Given the description of an element on the screen output the (x, y) to click on. 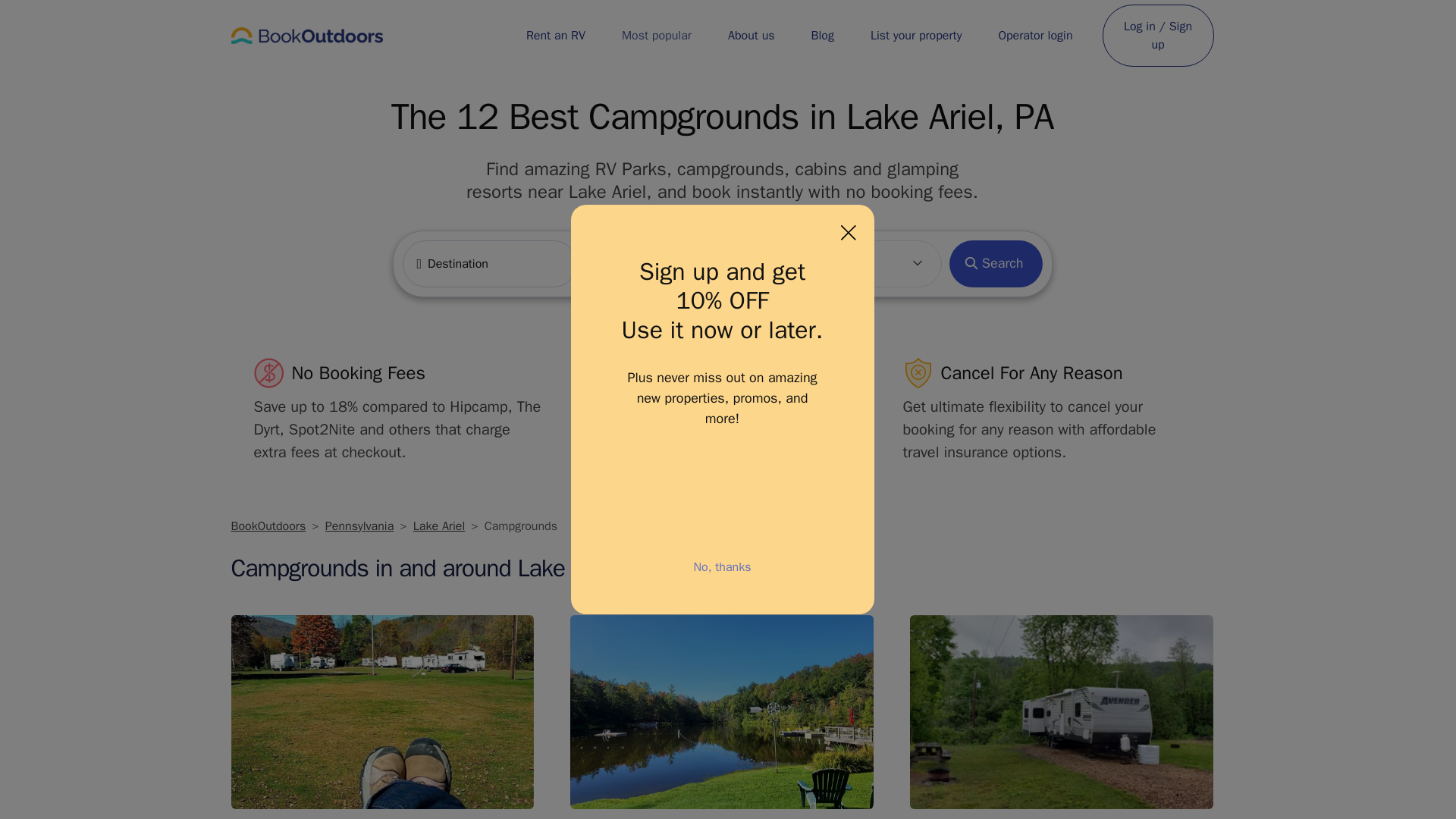
BookOutdoors (267, 525)
Search (995, 263)
List your property (916, 35)
About us (751, 35)
Pennsylvania (358, 525)
Lake Ariel (438, 525)
Rent an RV (555, 35)
Dates (671, 263)
Blog (822, 35)
Operator login (1034, 35)
Most popular (656, 35)
Filter by type (853, 263)
